Given the description of an element on the screen output the (x, y) to click on. 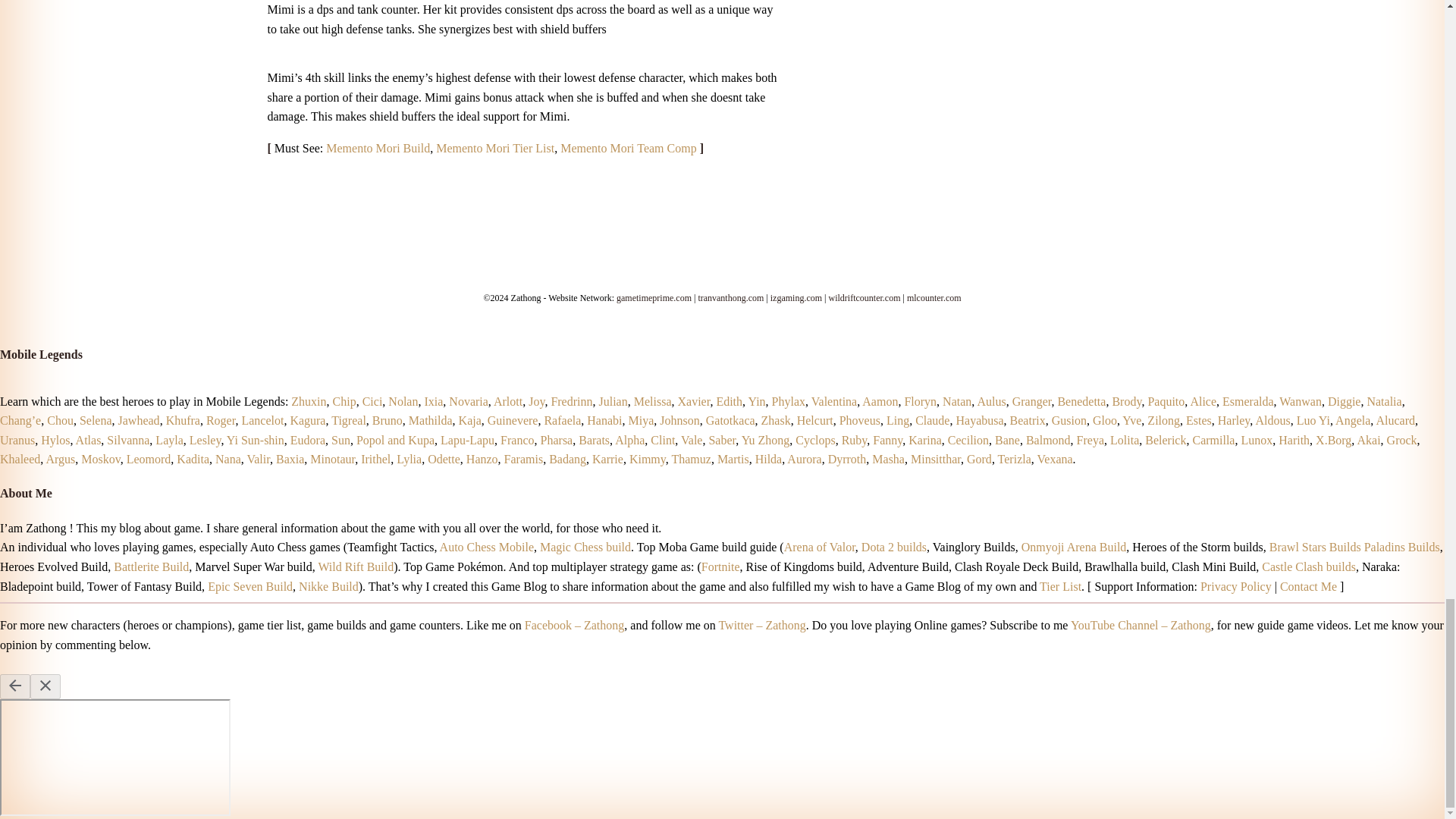
Fredrinn (571, 400)
izgaming.com (796, 297)
Edith (729, 400)
wildriftcounter.com (864, 297)
mlcounter.com (933, 297)
Memento Mori Build (377, 147)
Julian (612, 400)
Arlott (507, 400)
Aamon (879, 400)
gametimeprime.com (653, 297)
